Given the description of an element on the screen output the (x, y) to click on. 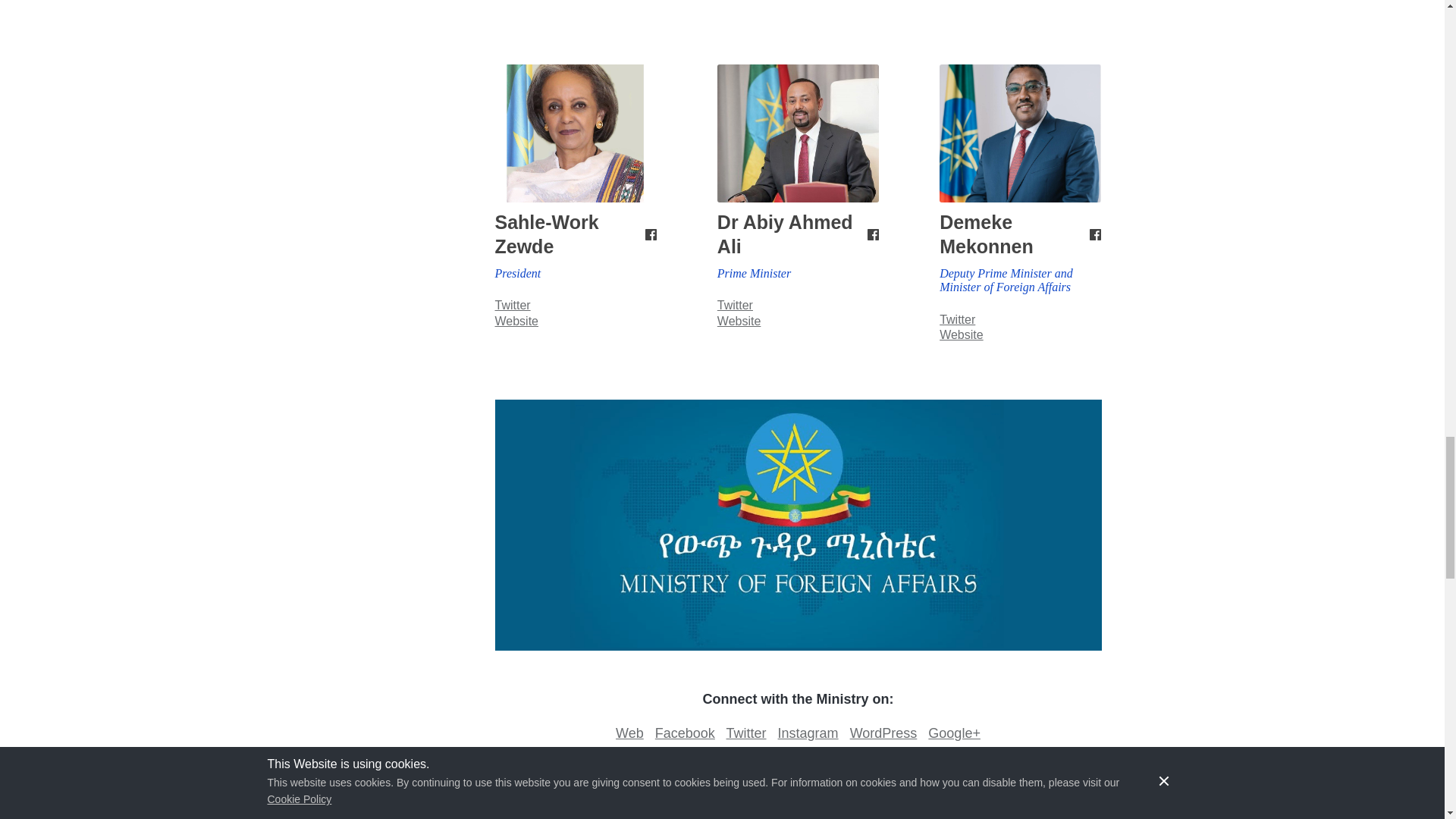
Web (629, 733)
Instagram (807, 733)
Twitter (734, 305)
Ethiopian Government Portal (955, 809)
Facebook (684, 733)
Website (516, 320)
Twitter (746, 733)
WordPress (883, 733)
Cabinet Ministers (642, 809)
Website (739, 320)
